Given the description of an element on the screen output the (x, y) to click on. 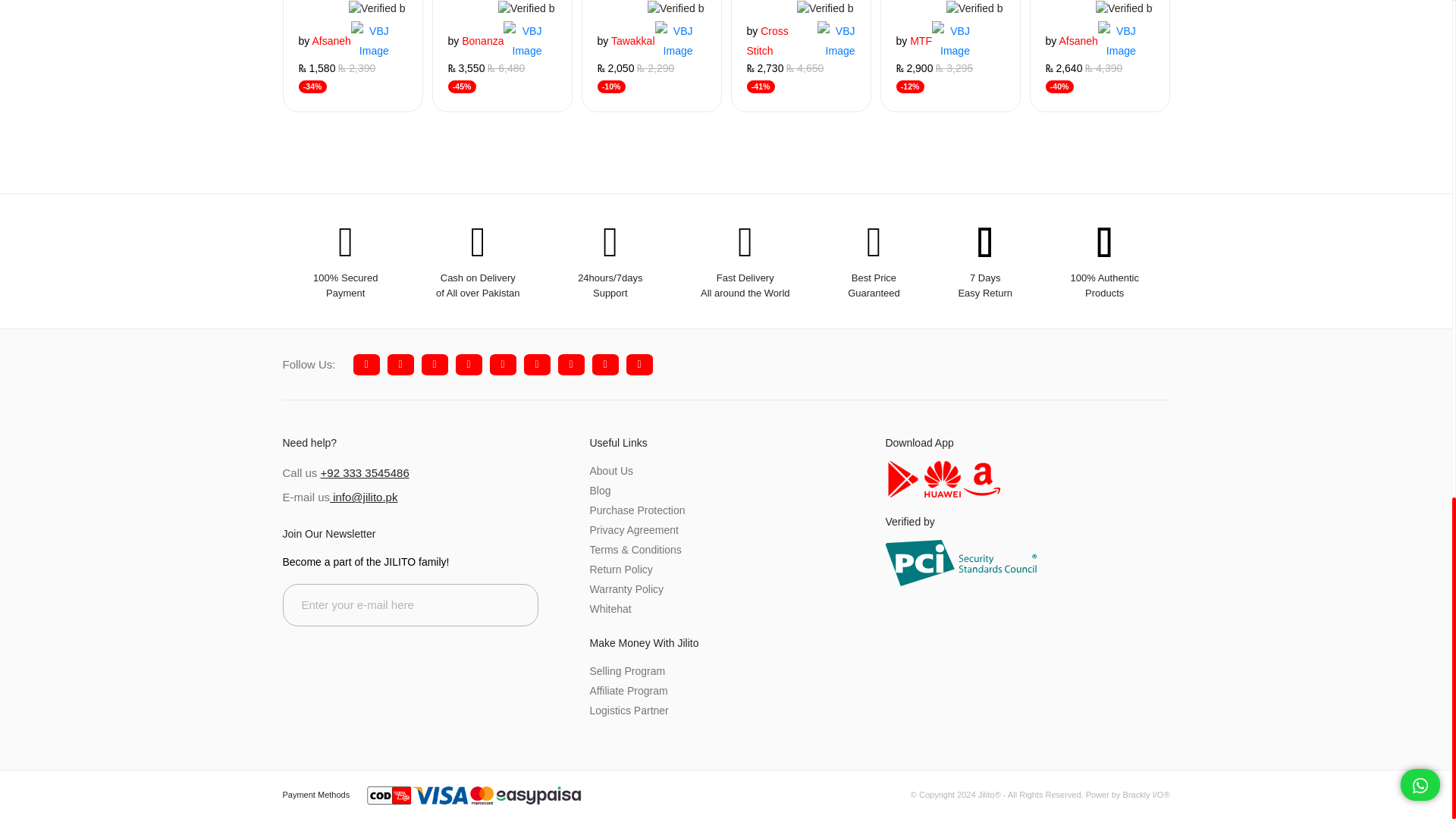
Get exactly what you ordered! (369, 40)
Get exactly what you ordered! (377, 7)
Get exactly what you ordered! (522, 40)
Get exactly what you ordered! (525, 7)
